Given the description of an element on the screen output the (x, y) to click on. 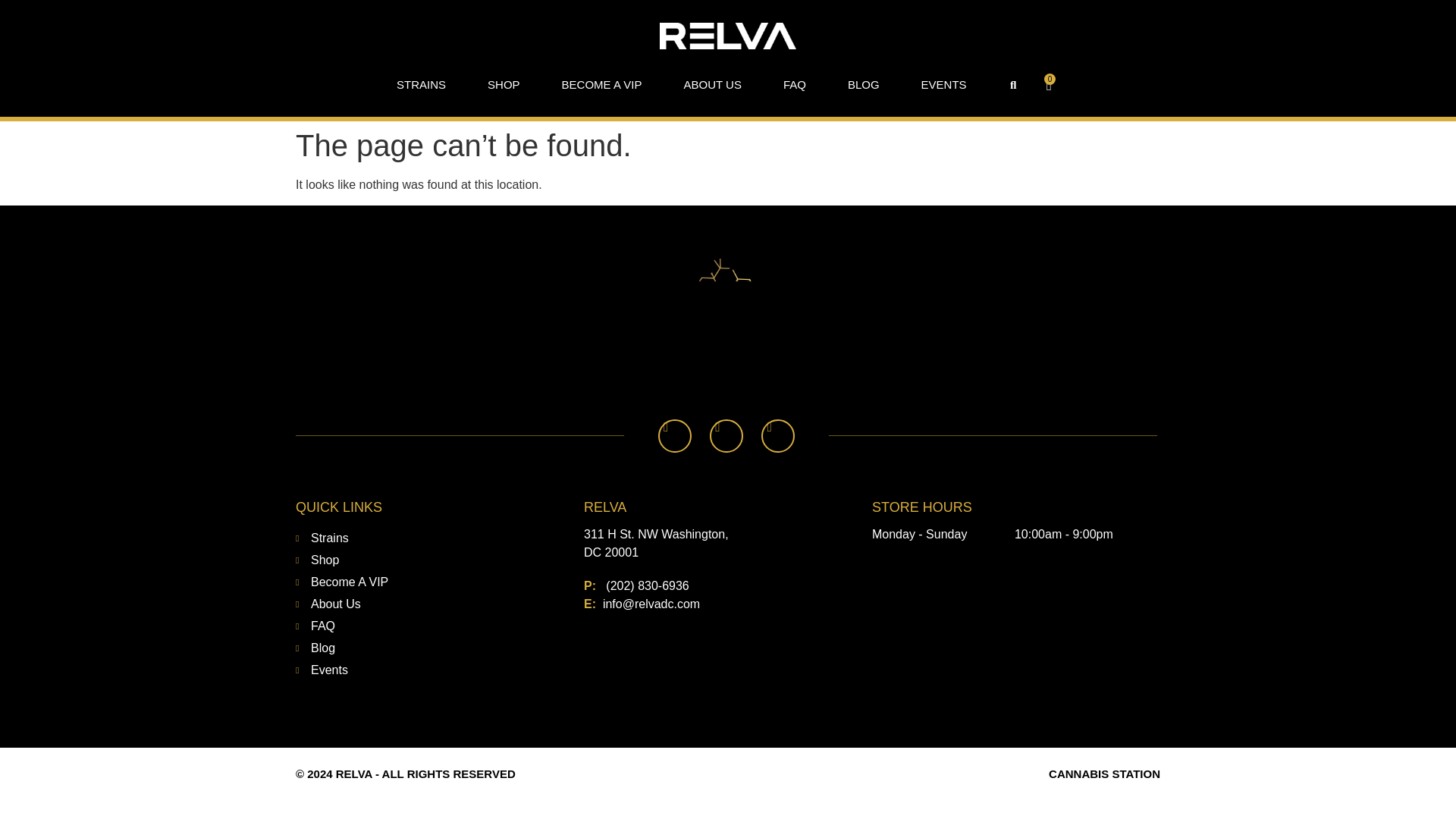
EVENTS (943, 85)
ABOUT US (711, 85)
SHOP (503, 85)
BECOME A VIP (602, 85)
STRAINS (420, 85)
FAQ (794, 85)
BLOG (863, 85)
